Given the description of an element on the screen output the (x, y) to click on. 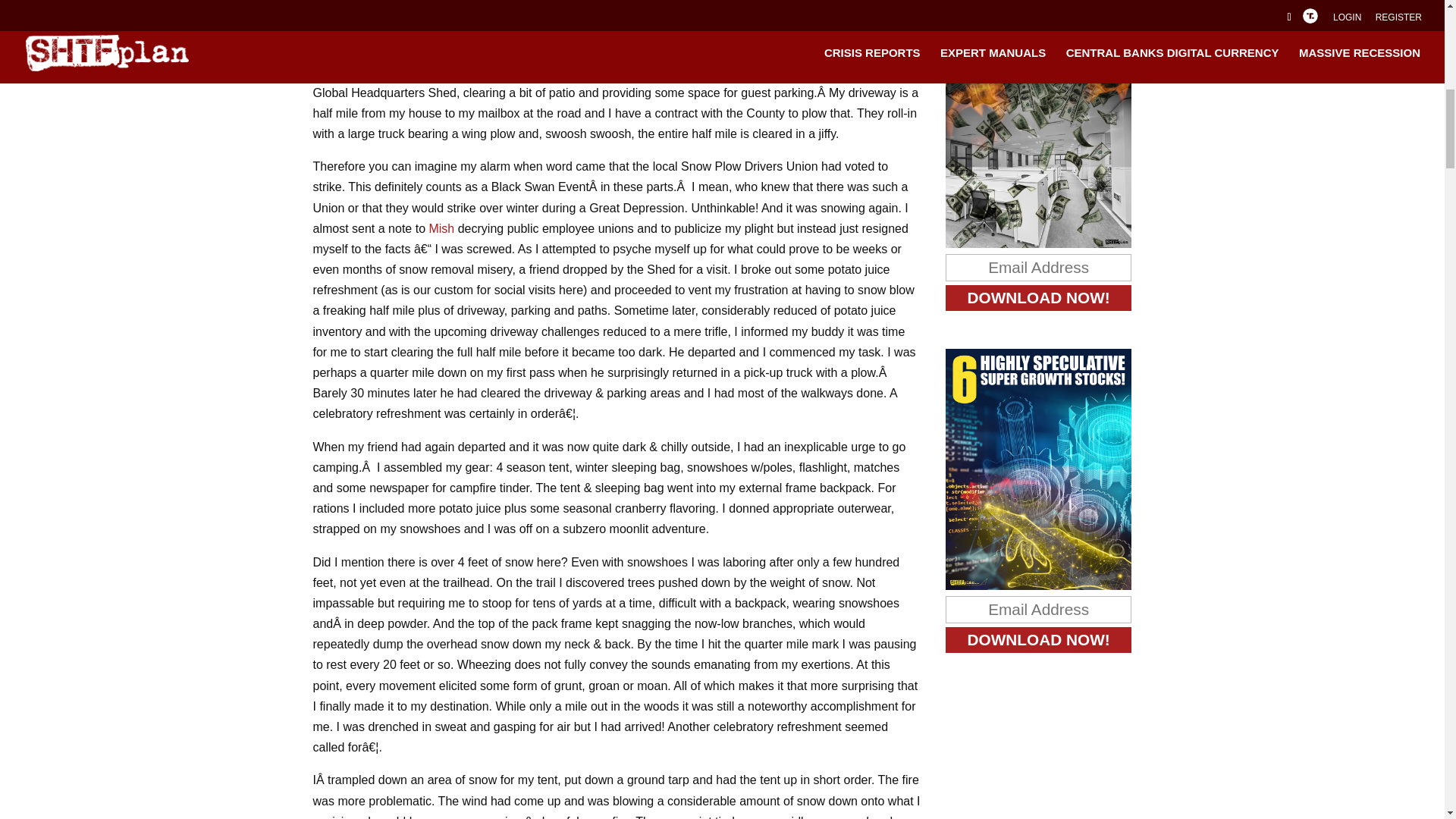
Mish (441, 228)
Download Now! (1038, 639)
Download Now! (1038, 298)
